Given the description of an element on the screen output the (x, y) to click on. 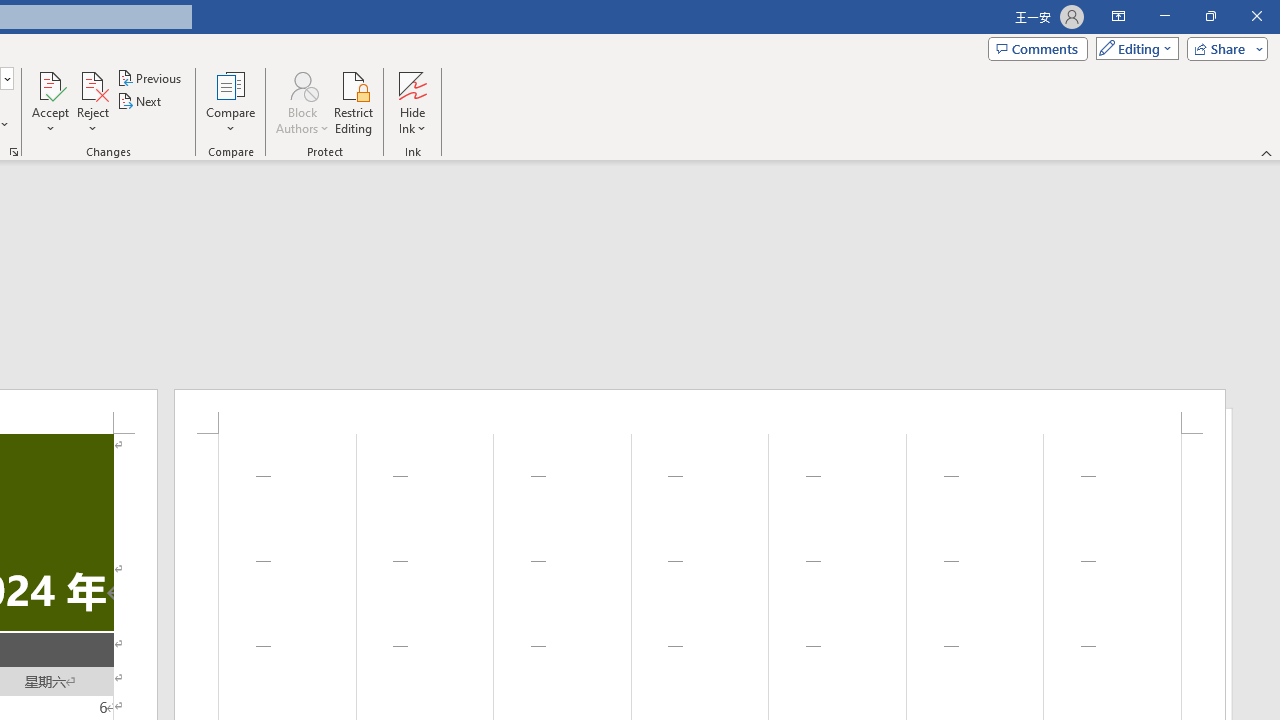
Accept (50, 102)
Compare (230, 102)
Block Authors (302, 84)
Block Authors (302, 102)
Accept and Move to Next (50, 84)
Restrict Editing (353, 102)
Next (140, 101)
Hide Ink (412, 102)
Reject (92, 102)
